Given the description of an element on the screen output the (x, y) to click on. 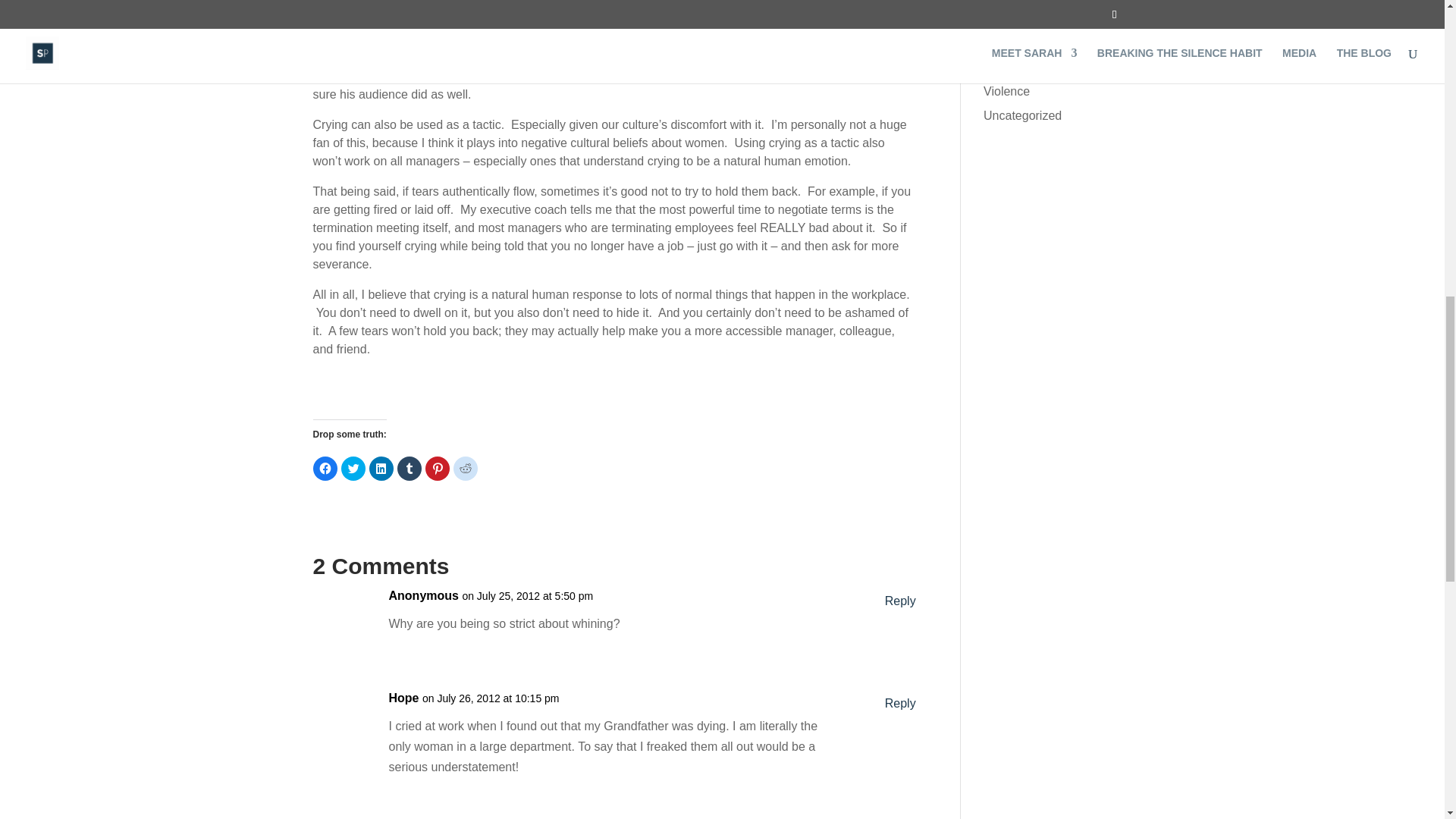
Hope (403, 697)
Click to share on LinkedIn (380, 468)
Click to share on Reddit (464, 468)
Reply (900, 702)
Click to share on Facebook (324, 468)
Click to share on Pinterest (436, 468)
Reply (900, 600)
Data, research, and facts about sexual violence (1035, 81)
Click to share on Twitter (352, 468)
